Given the description of an element on the screen output the (x, y) to click on. 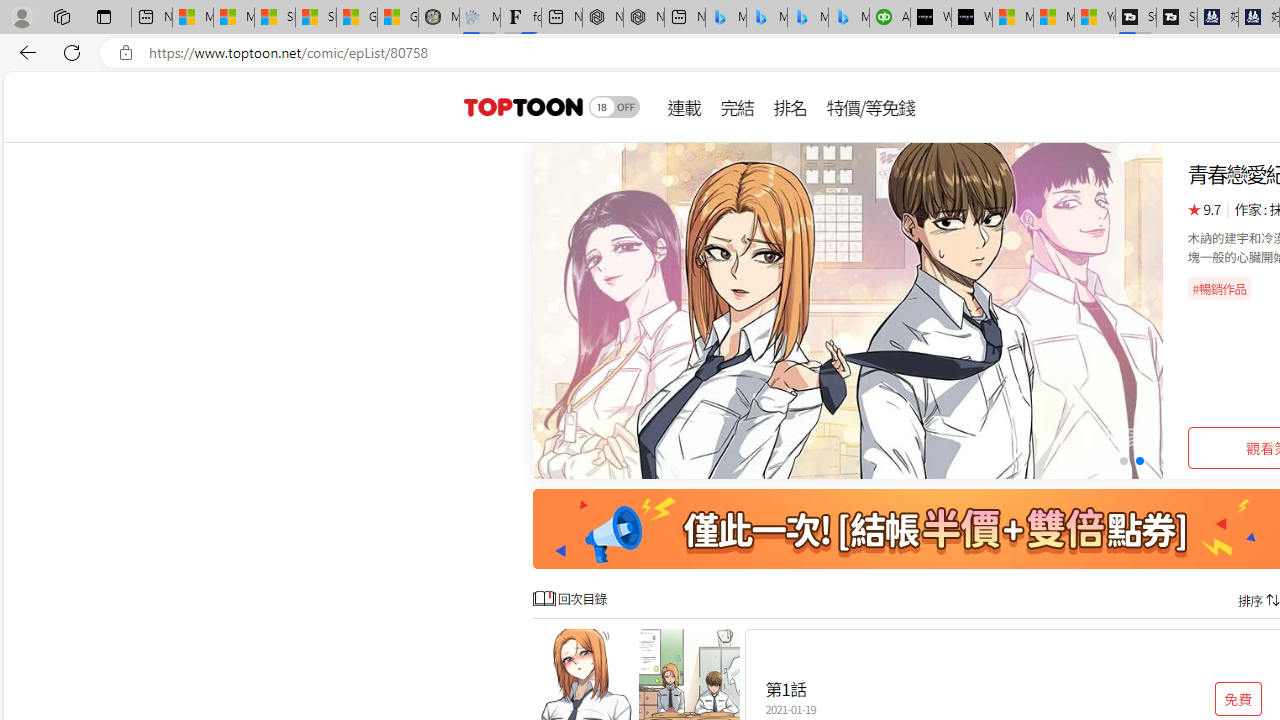
Go to slide 1 (1122, 461)
Streaming Coverage | T3 (1135, 17)
Go to slide 2 (1139, 461)
Microsoft Bing Travel - Shangri-La Hotel Bangkok (849, 17)
Gilma and Hector both pose tropical trouble for Hawaii (397, 17)
